Given the description of an element on the screen output the (x, y) to click on. 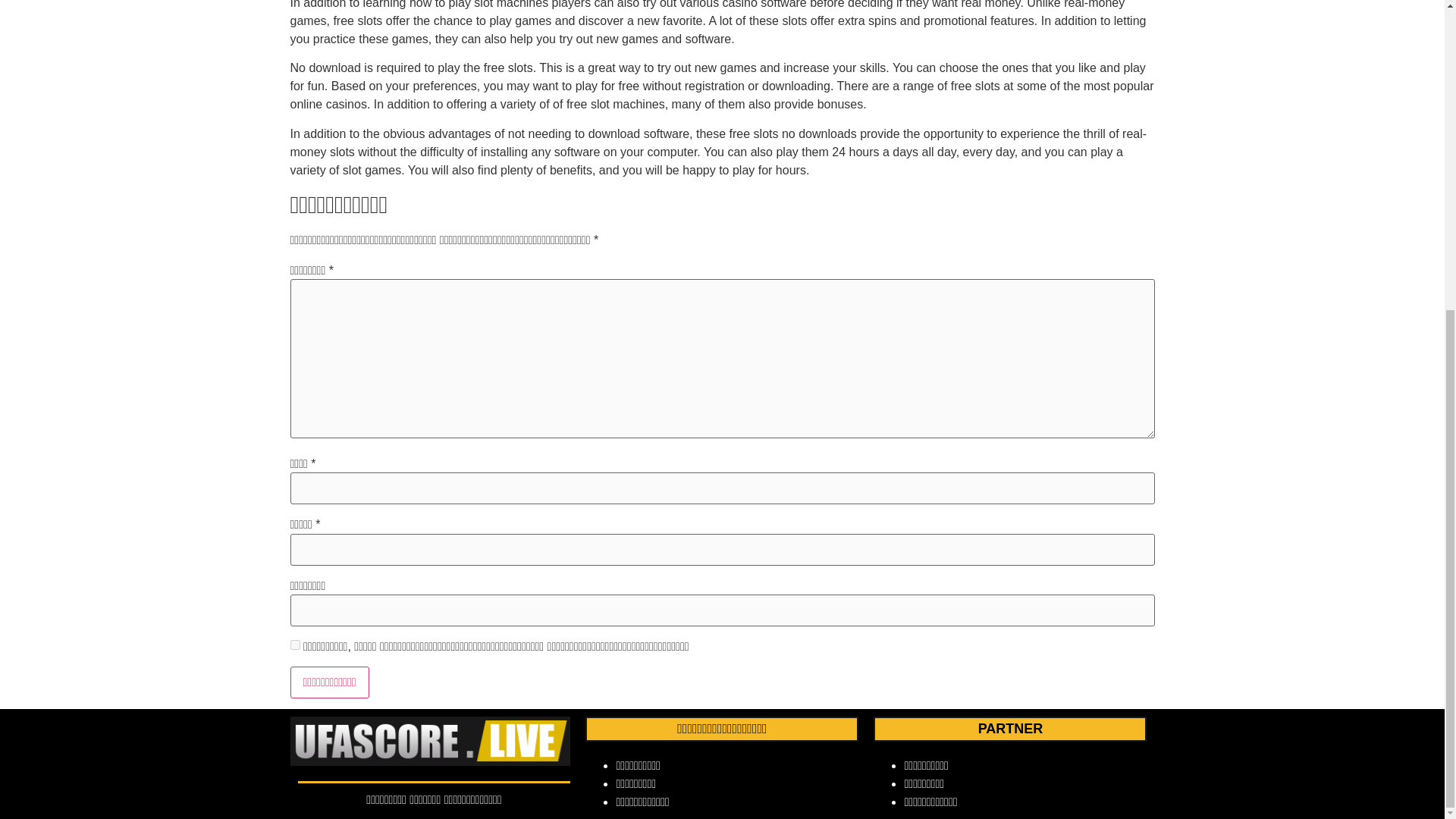
yes (294, 644)
